Given the description of an element on the screen output the (x, y) to click on. 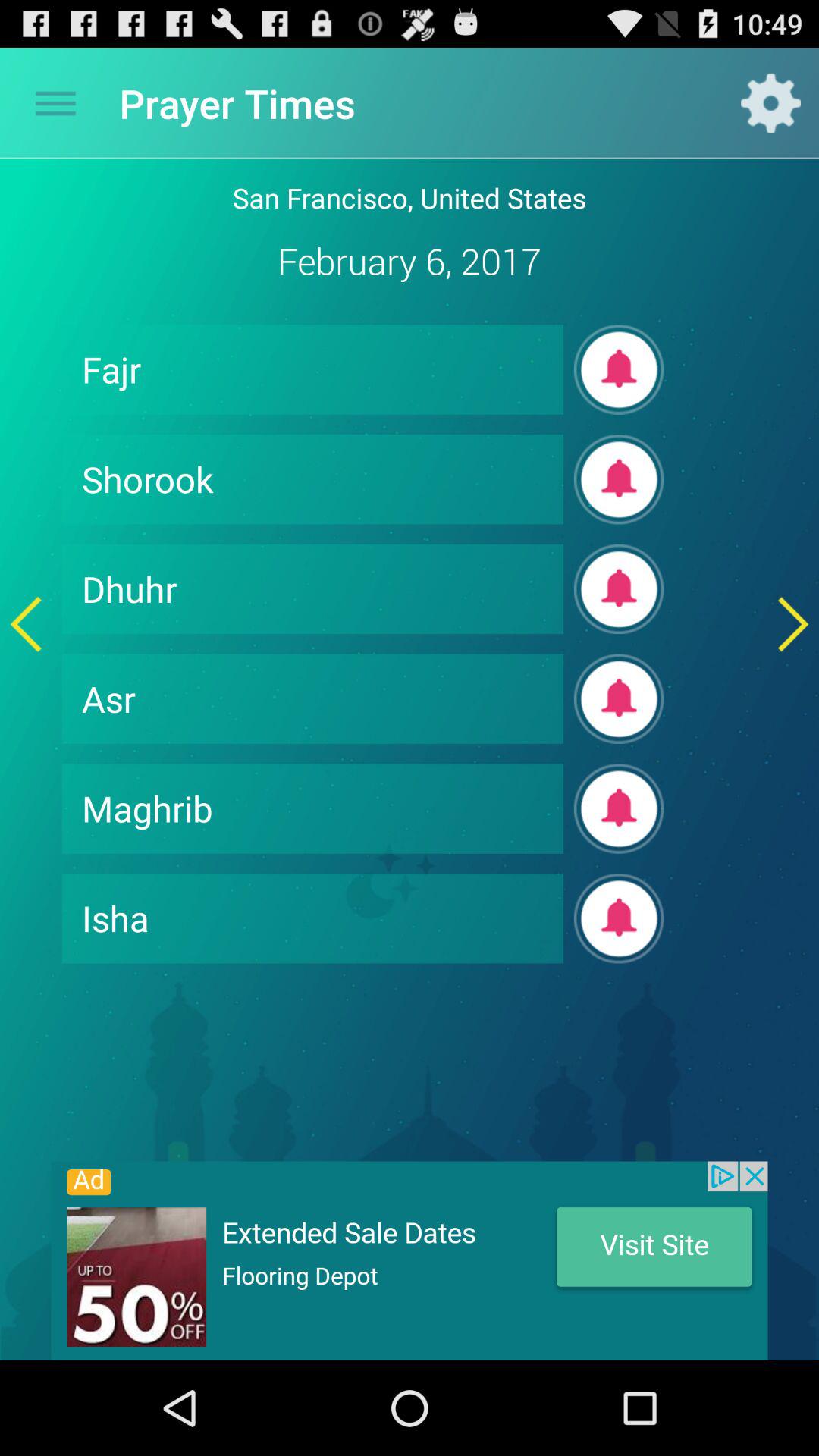
go to alarm (618, 698)
